Given the description of an element on the screen output the (x, y) to click on. 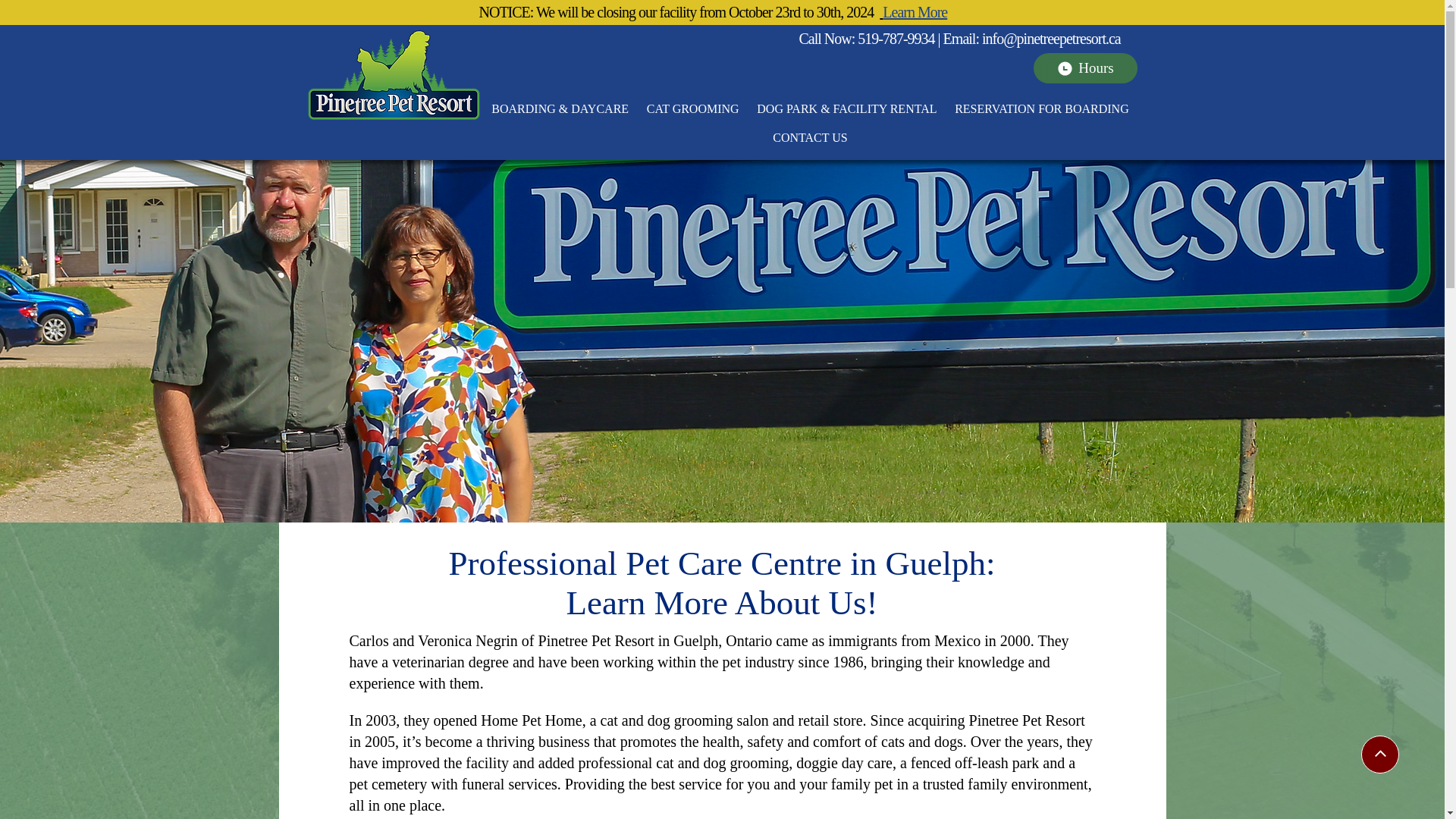
Hours (1084, 68)
 Learn More (913, 12)
CONTACT US (809, 141)
CAT GROOMING (692, 112)
519-787-9934 (895, 38)
RESERVATION FOR BOARDING (1040, 112)
